Given the description of an element on the screen output the (x, y) to click on. 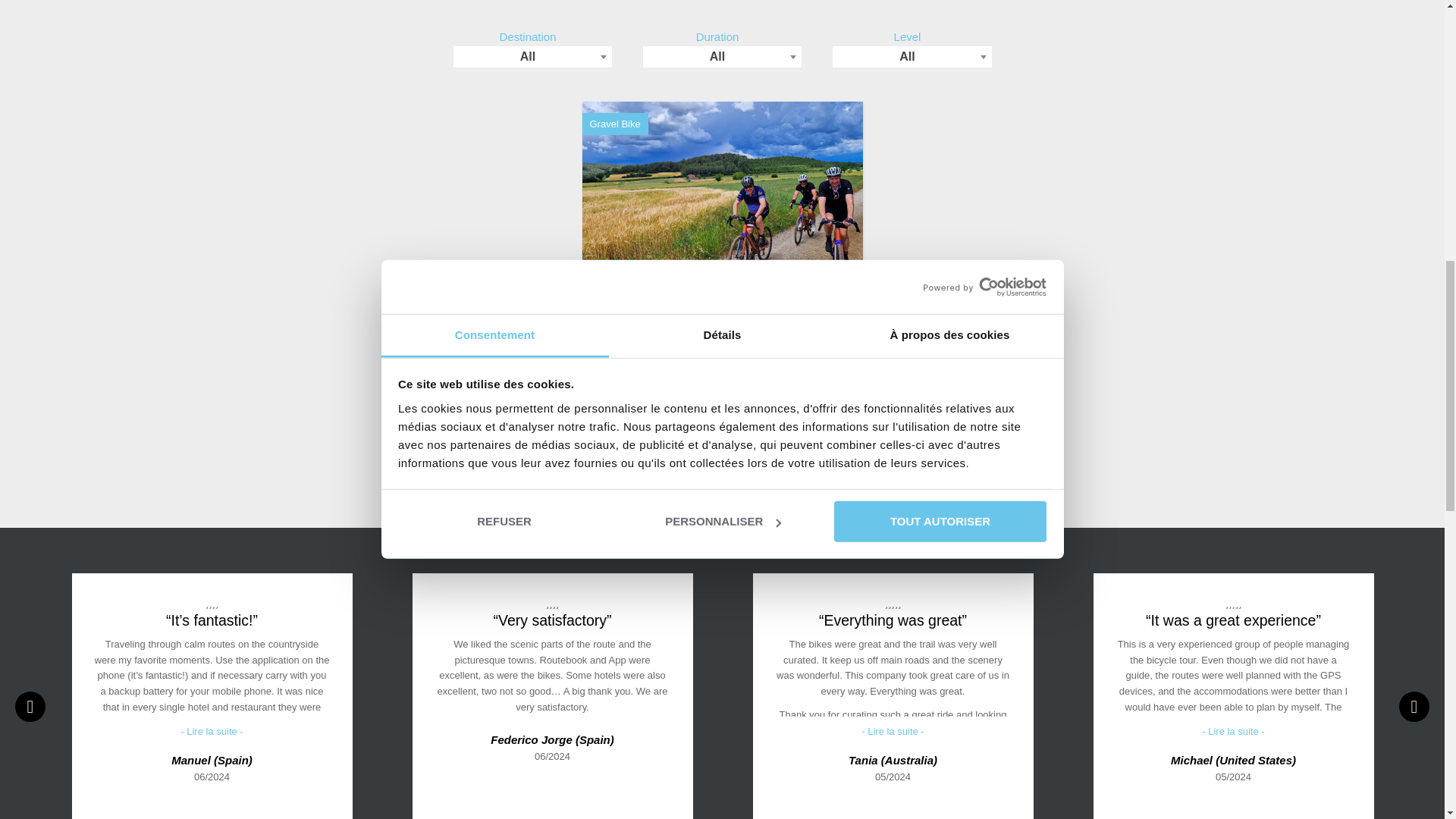
All (722, 55)
All (911, 55)
All (531, 55)
